Given the description of an element on the screen output the (x, y) to click on. 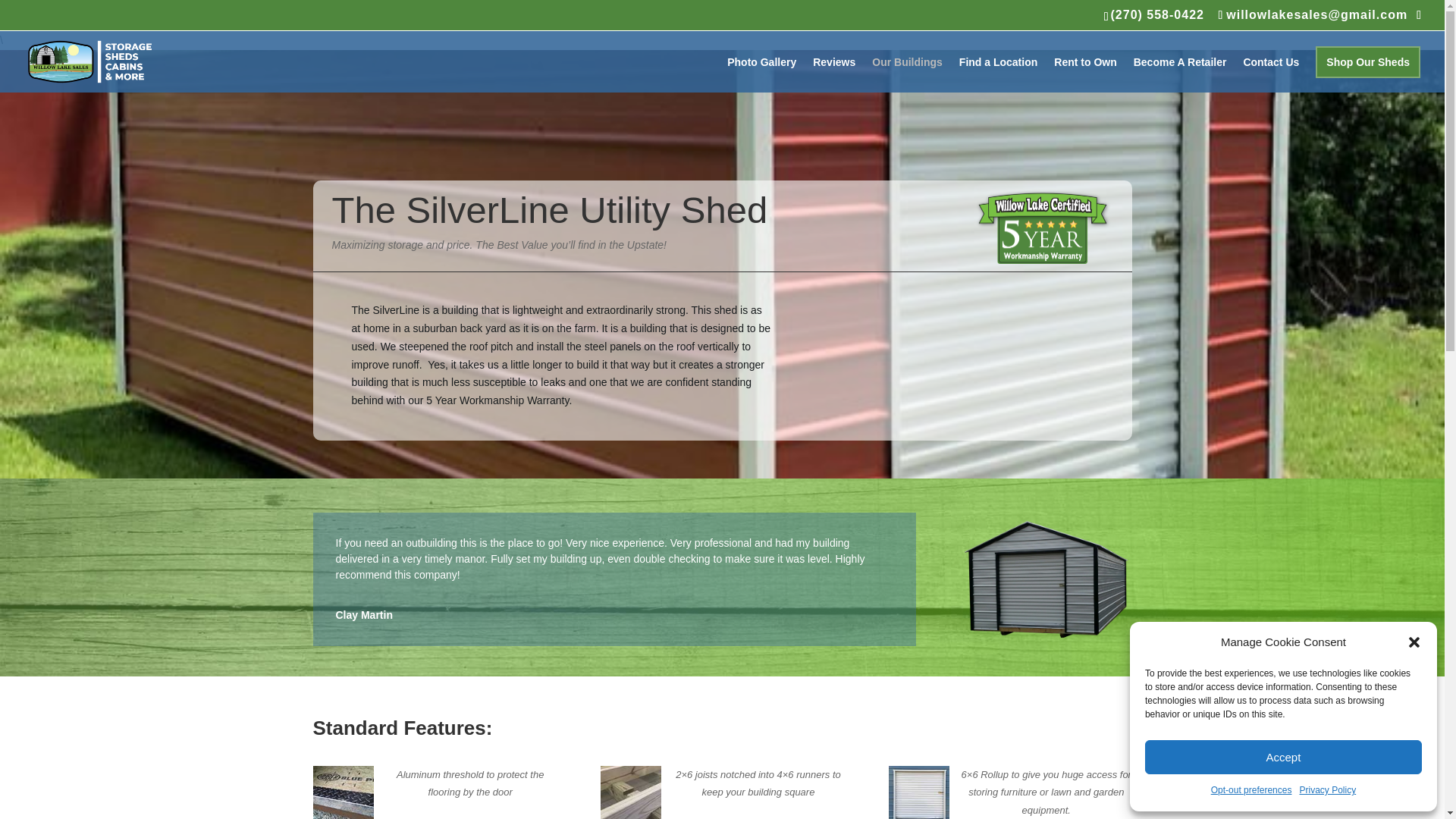
Accept (1283, 756)
Photo Gallery (761, 74)
Opt-out preferences (1251, 791)
Reviews (834, 74)
Rent to Own (1085, 74)
Find a Location (997, 74)
Privacy Policy (1326, 791)
Our Buildings (907, 74)
Become A Retailer (1180, 74)
Contact Us (1270, 74)
Shop Our Sheds (1367, 74)
